Given the description of an element on the screen output the (x, y) to click on. 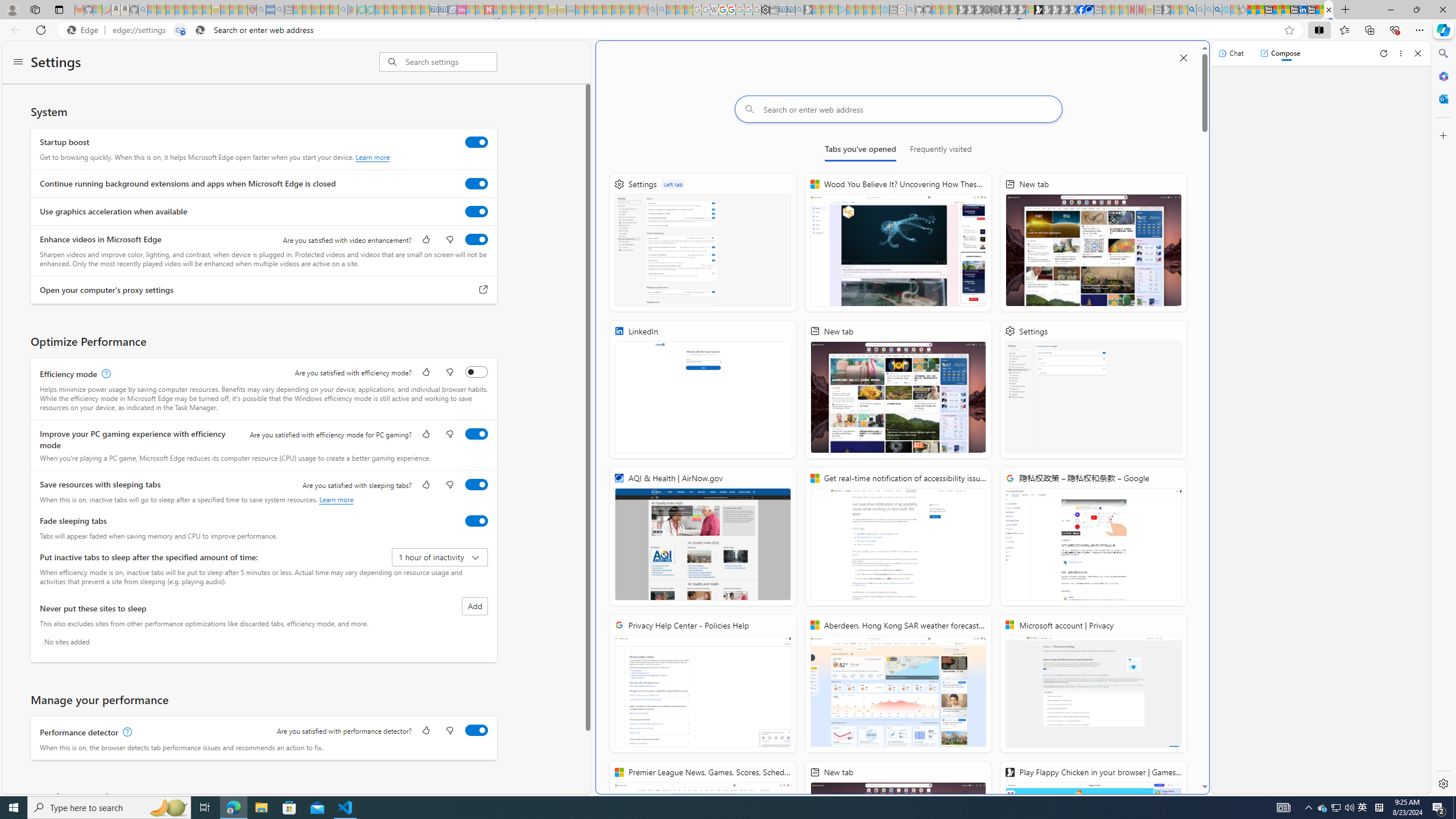
Improve your PC gaming experience with efficiency mode (476, 433)
Efficiency mode (476, 371)
Privacy Help Center - Policies Help (722, 9)
Use graphics acceleration when available (476, 211)
